Given the description of an element on the screen output the (x, y) to click on. 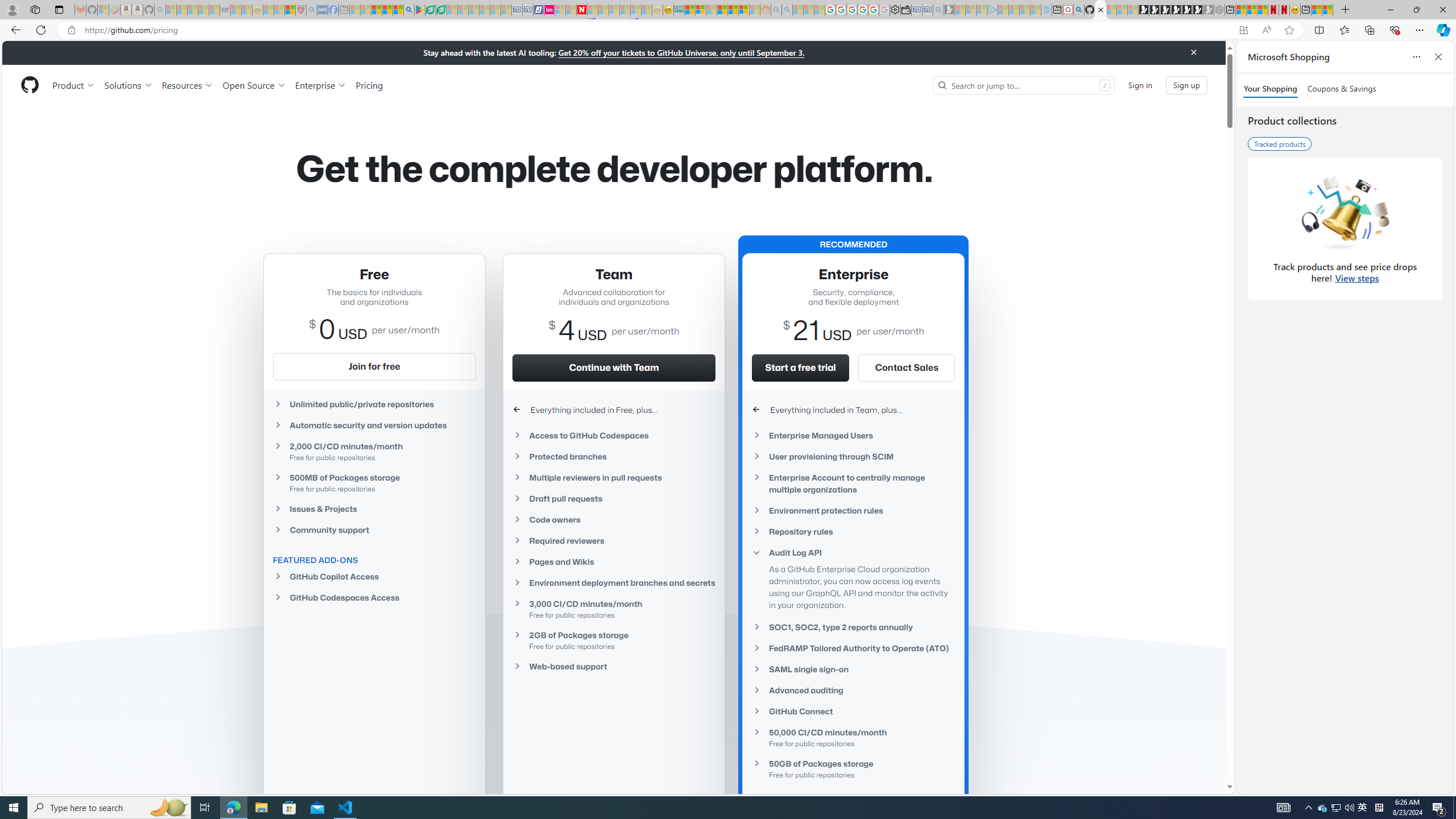
SAML single sign-on (853, 669)
Microsoft Word - consumer-privacy address update 2.2021 (440, 9)
